Given the description of an element on the screen output the (x, y) to click on. 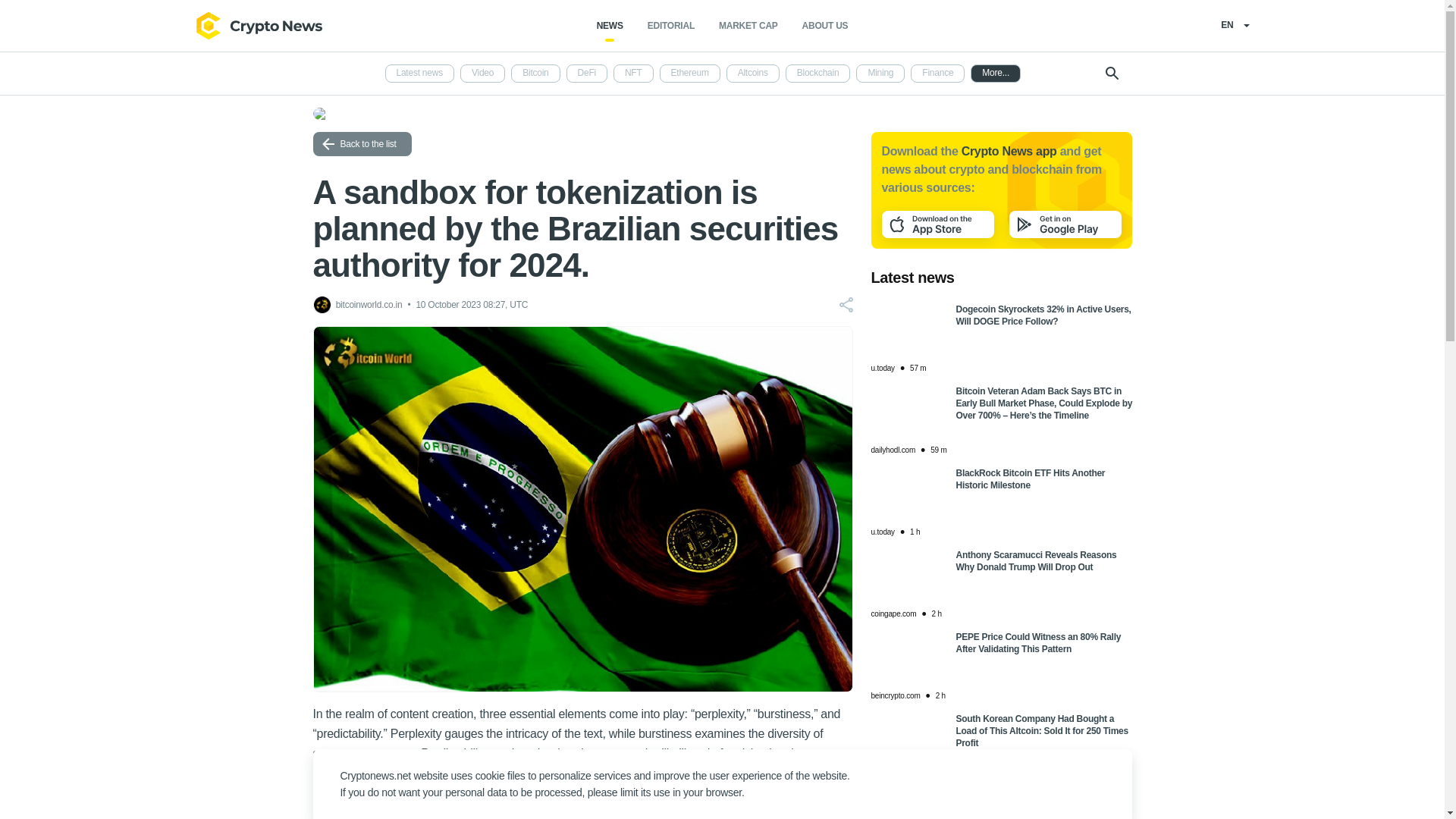
NEWS (609, 25)
Latest news (419, 73)
Ethereum (689, 73)
Blockchain (818, 73)
Bitcoin (535, 73)
Altcoins (752, 73)
Mining (880, 73)
Finance (937, 73)
DeFi (586, 73)
MARKET CAP (748, 25)
